Given the description of an element on the screen output the (x, y) to click on. 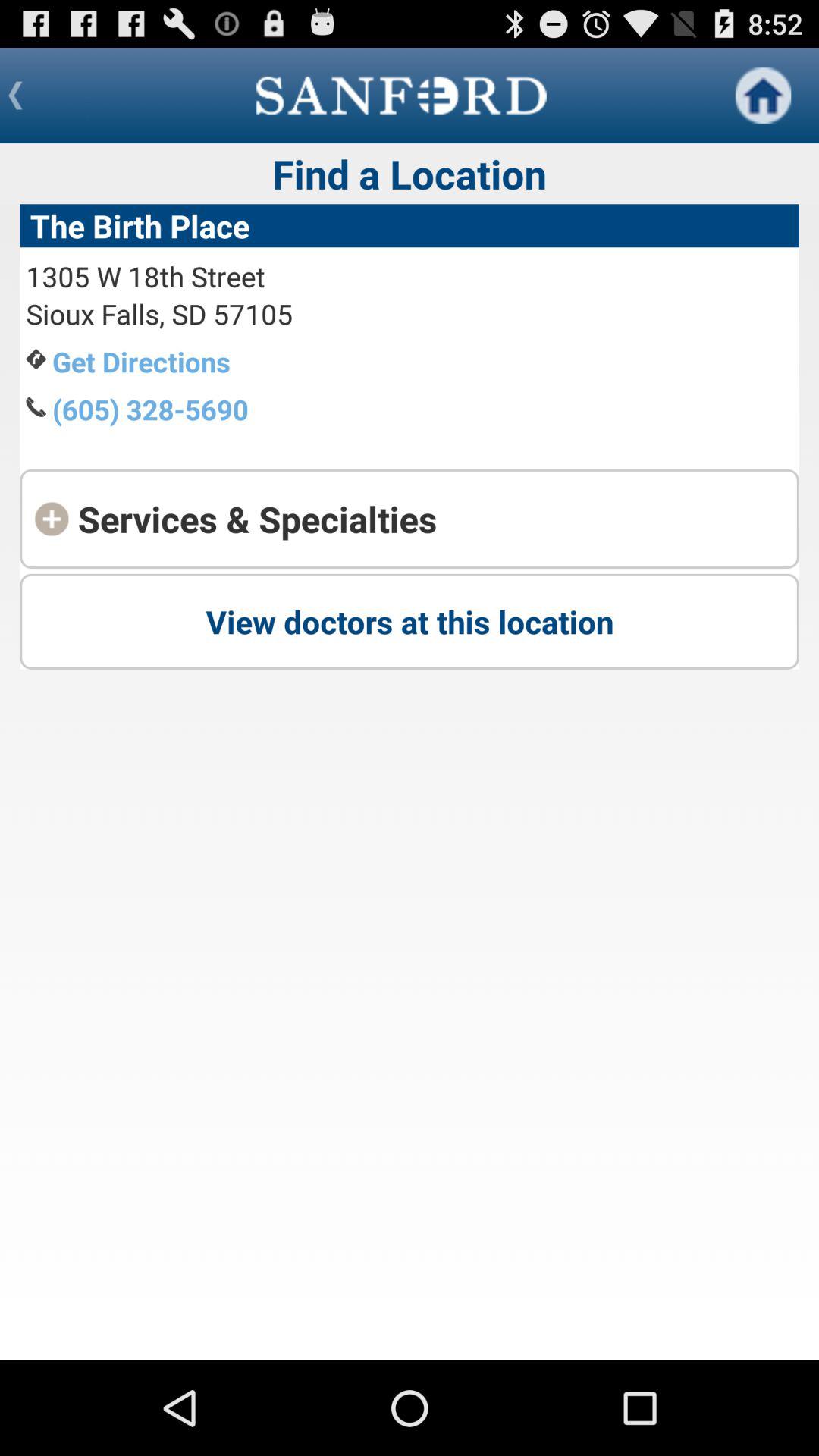
press view doctors at at the center (409, 621)
